Given the description of an element on the screen output the (x, y) to click on. 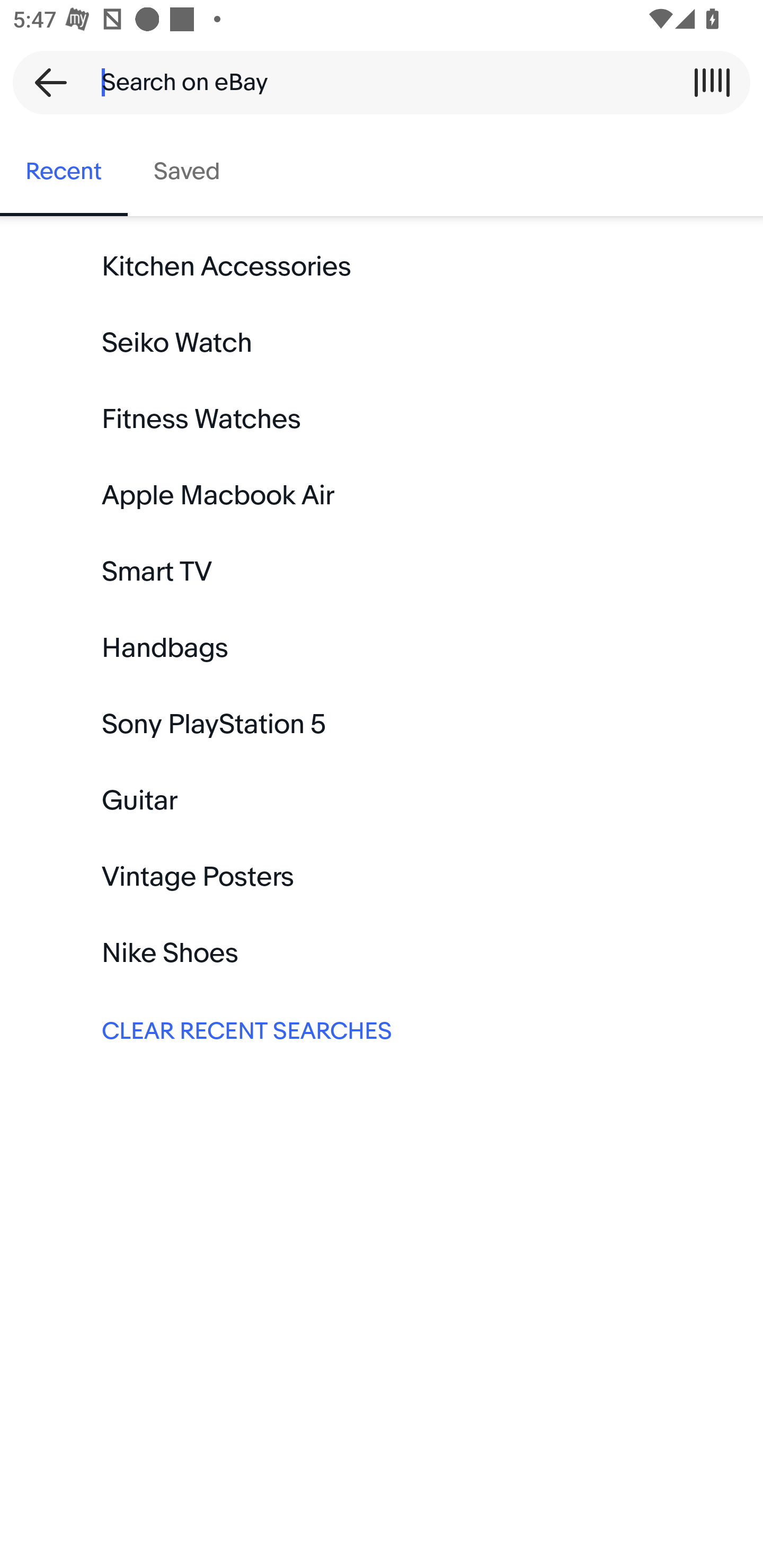
Back (44, 82)
Scan a barcode (711, 82)
Search on eBay (375, 82)
Saved, tab 2 of 2 Saved (186, 171)
Seiko Watch Keyword search Seiko Watch: (381, 343)
Fitness Watches Keyword search Fitness Watches: (381, 419)
Smart TV Keyword search Smart TV: (381, 571)
Handbags Keyword search Handbags: (381, 647)
Guitar Keyword search Guitar: (381, 800)
Vintage Posters Keyword search Vintage Posters: (381, 876)
Nike Shoes Keyword search Nike Shoes: (381, 952)
CLEAR RECENT SEARCHES (381, 1028)
